Given the description of an element on the screen output the (x, y) to click on. 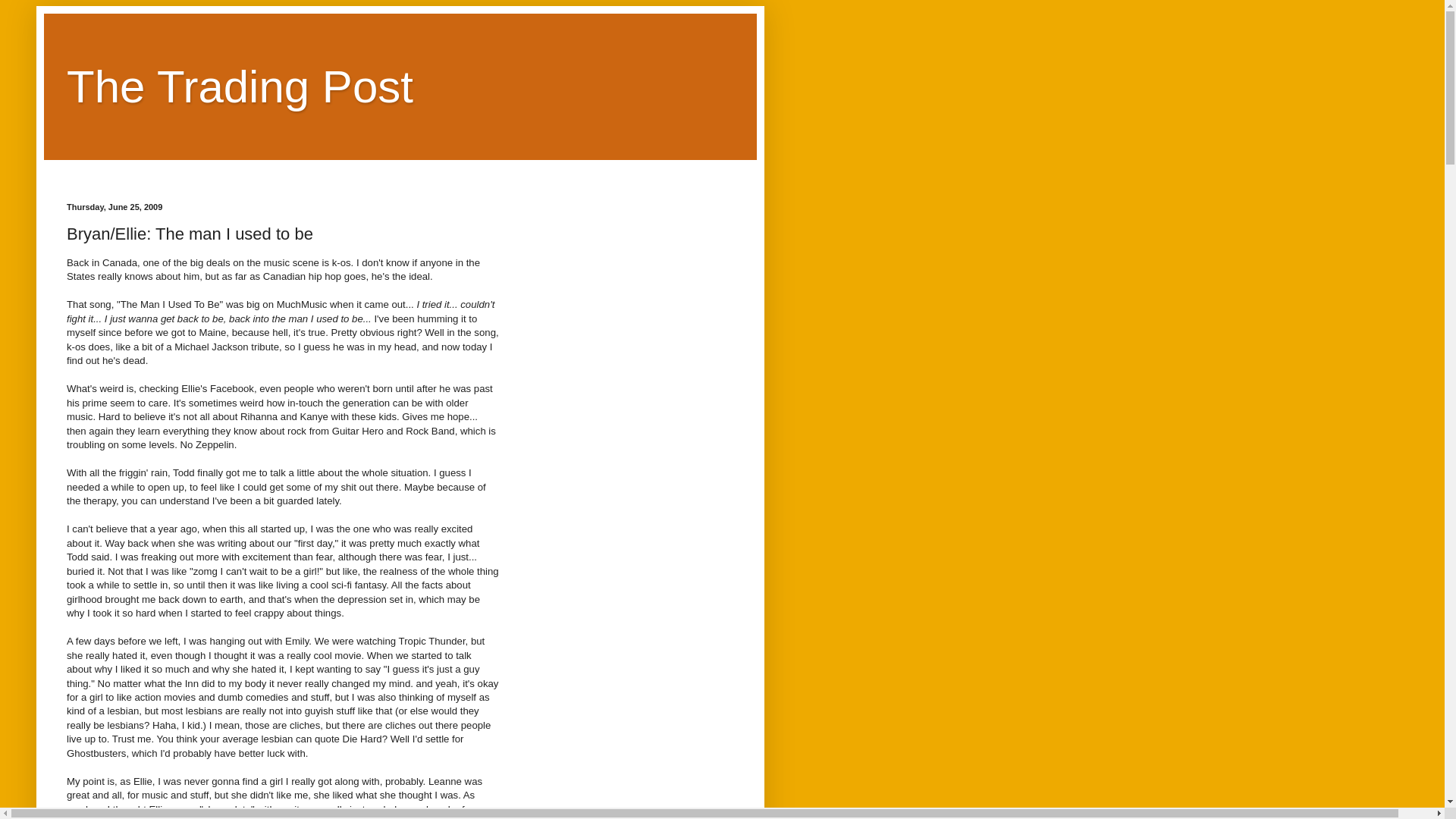
The Trading Post (239, 86)
